Given the description of an element on the screen output the (x, y) to click on. 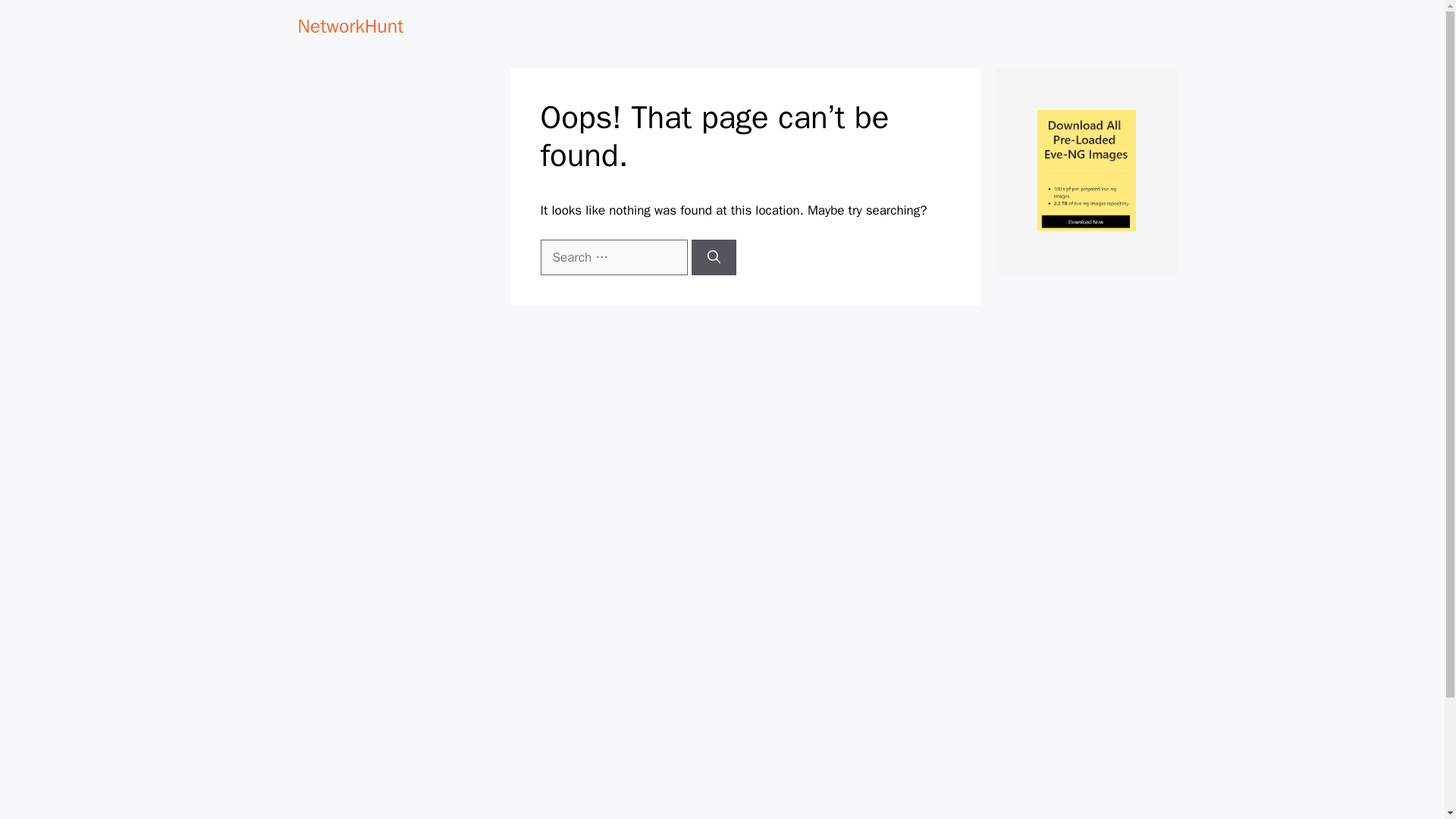
Search for: (613, 257)
NetworkHunt (350, 25)
